Given the description of an element on the screen output the (x, y) to click on. 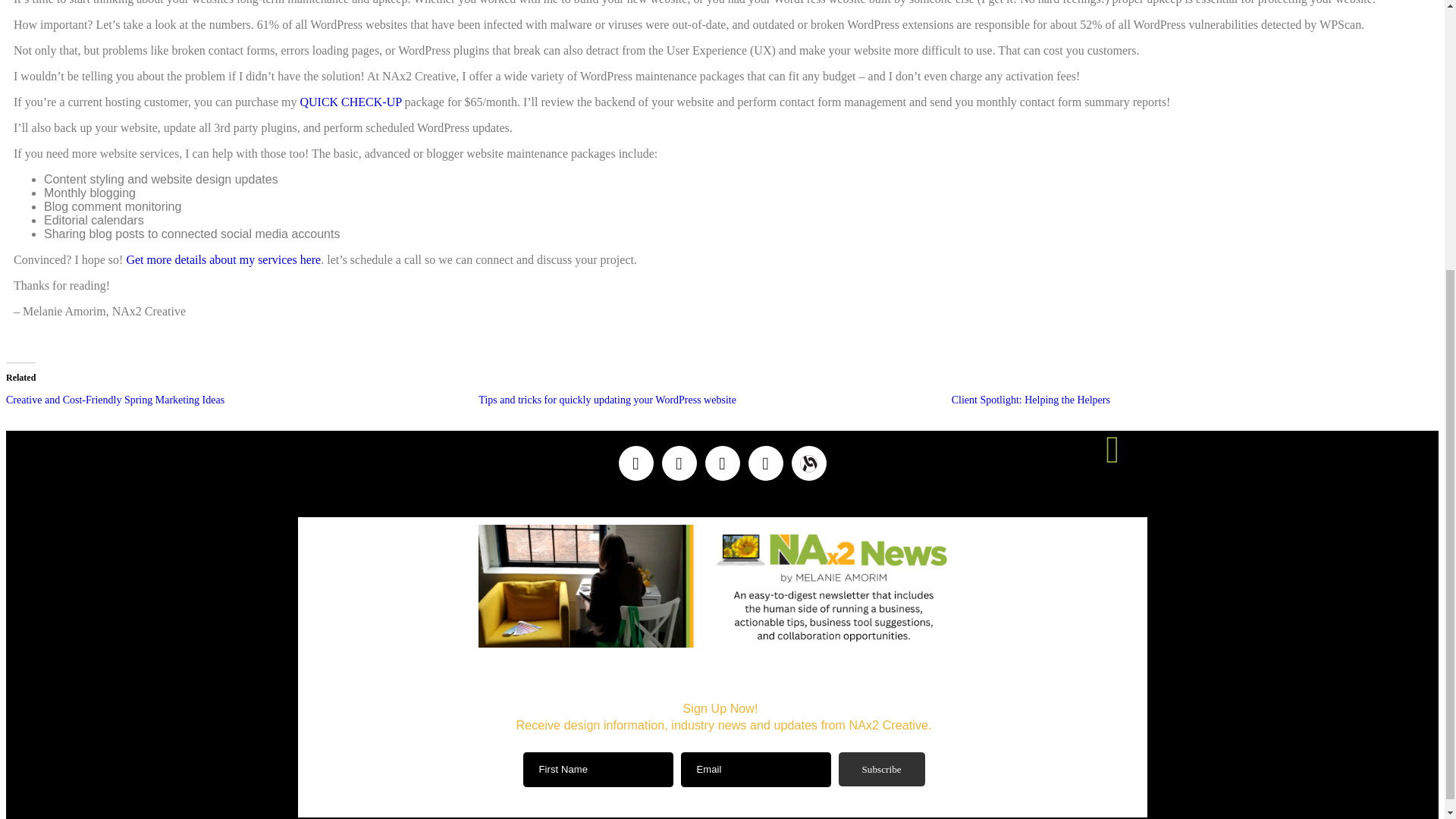
QUICK CHECK-UP (350, 101)
Creative and Cost-Friendly Spring Marketing Ideas (114, 399)
Tips and tricks for quickly updating your WordPress website (607, 399)
Client Spotlight: Helping the Helpers (1030, 399)
